Given the description of an element on the screen output the (x, y) to click on. 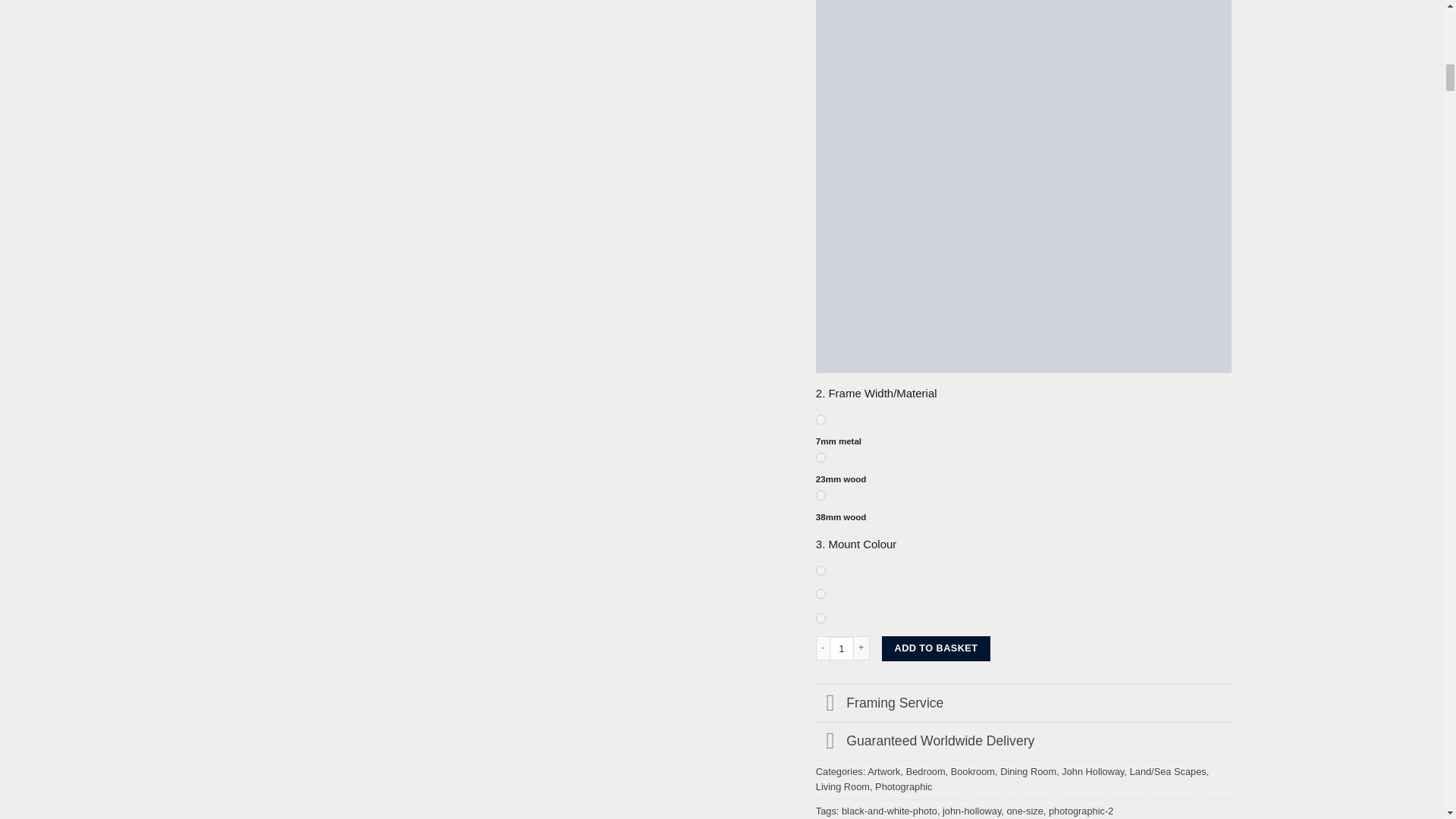
a23mm (820, 457)
1 (841, 648)
white (820, 593)
a38mm (820, 495)
a7mm (820, 419)
black (820, 570)
